Given the description of an element on the screen output the (x, y) to click on. 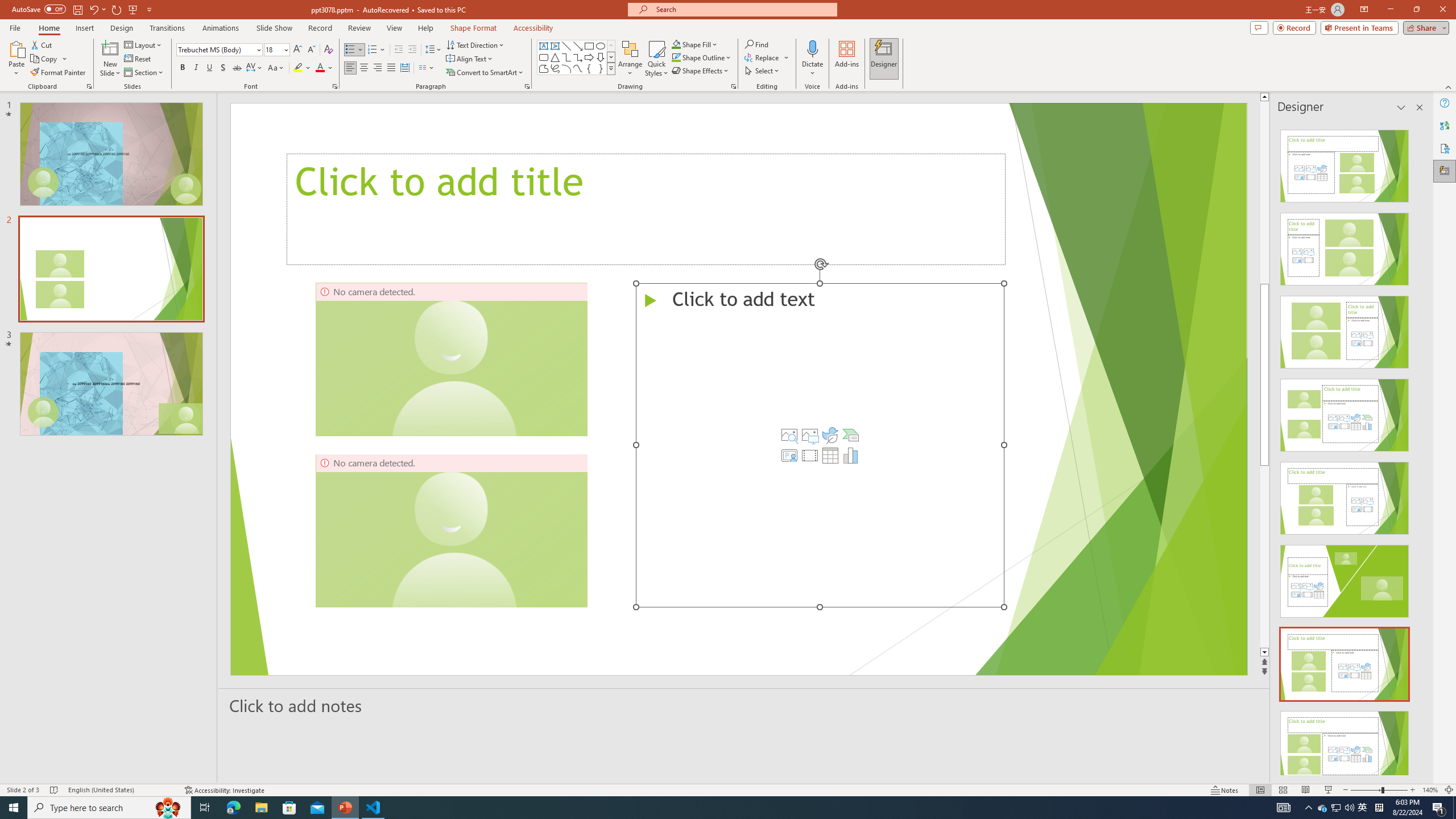
Slide Notes (743, 705)
Pictures (809, 434)
